Given the description of an element on the screen output the (x, y) to click on. 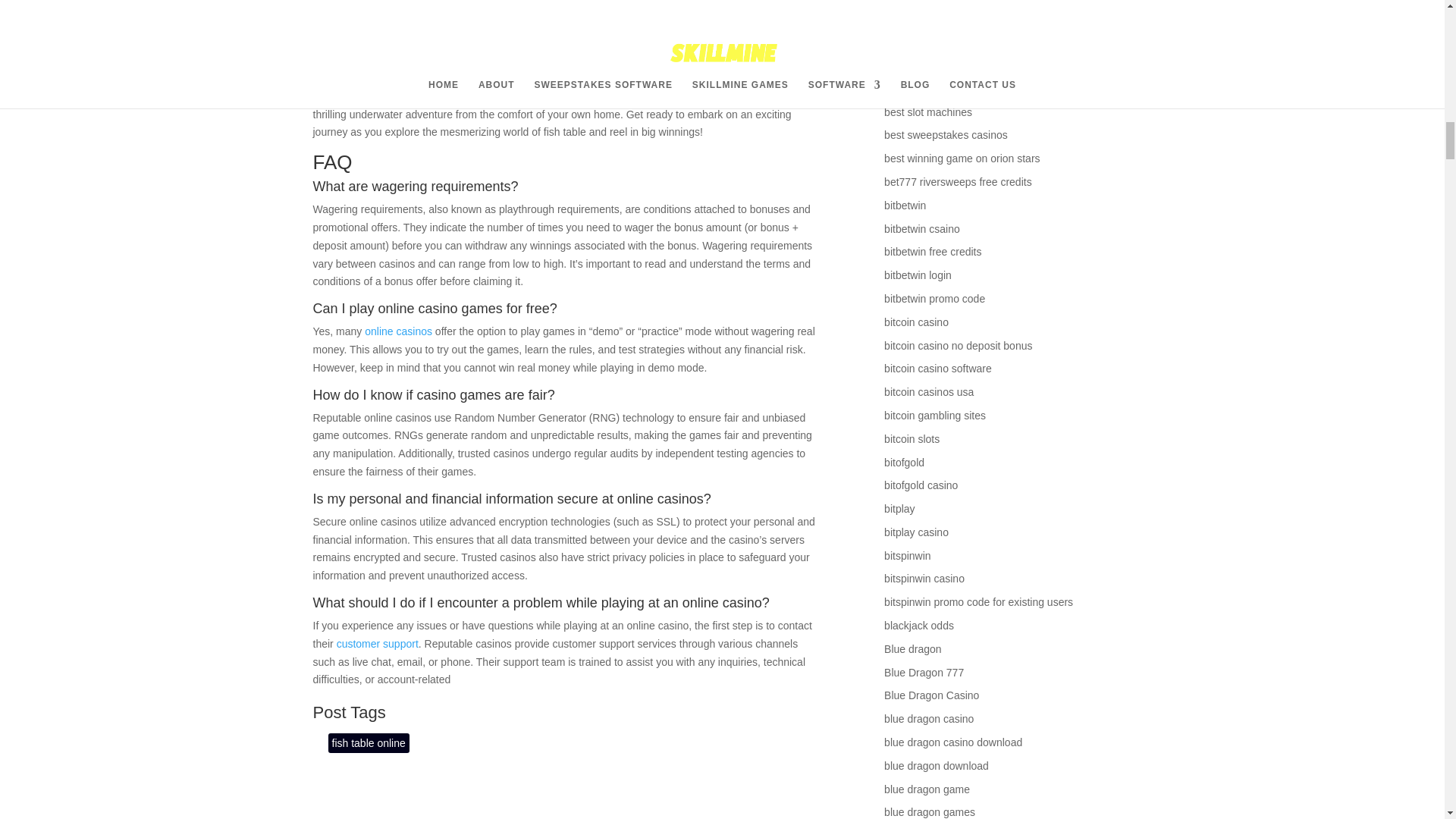
Fish table online (351, 41)
fish table online (368, 742)
online casinos (398, 331)
customer support (377, 644)
